Given the description of an element on the screen output the (x, y) to click on. 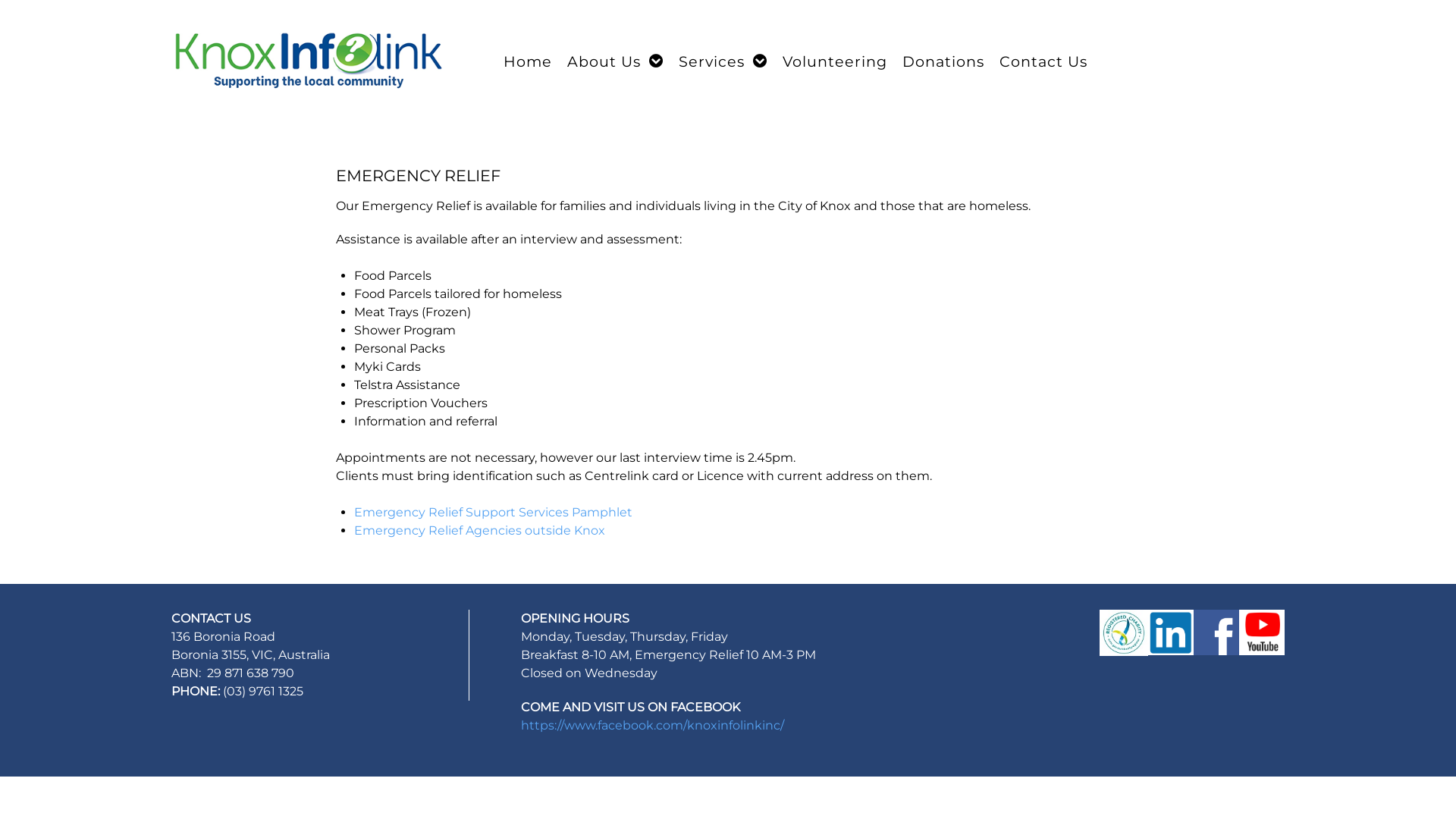
Home Element type: text (527, 60)
Contact Us Element type: text (1043, 60)
Services Element type: text (722, 60)
Emergency Relief Support Services Pamphlet Element type: text (493, 512)
About Us Element type: text (615, 60)
Emergency Relief Agencies outside Knox Element type: text (479, 530)
Donations Element type: text (943, 60)
Volunteering Element type: text (834, 60)
https://www.facebook.com/knoxinfolinkinc/ Element type: text (652, 725)
